Given the description of an element on the screen output the (x, y) to click on. 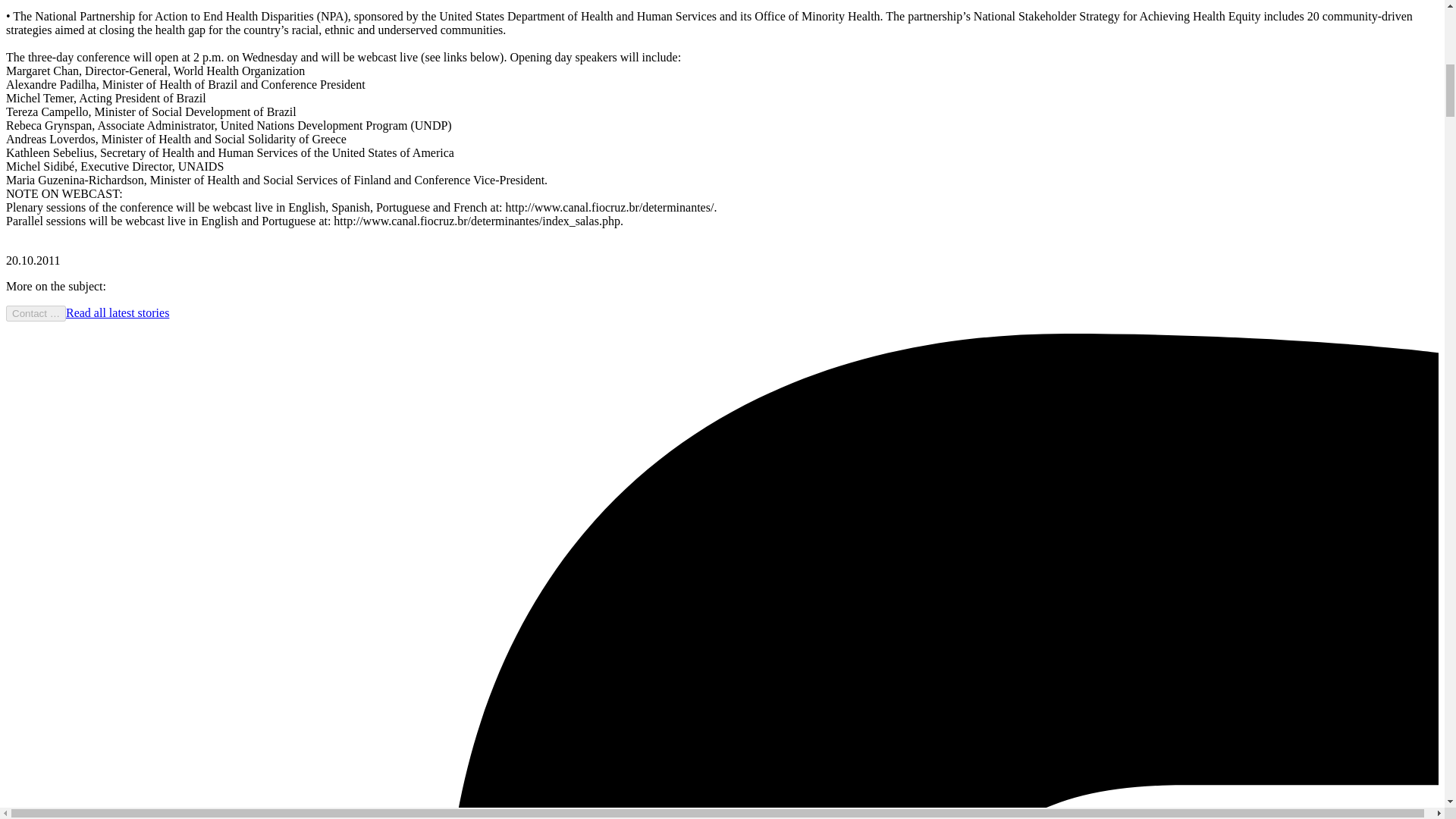
Read all latest stories (116, 312)
